Given the description of an element on the screen output the (x, y) to click on. 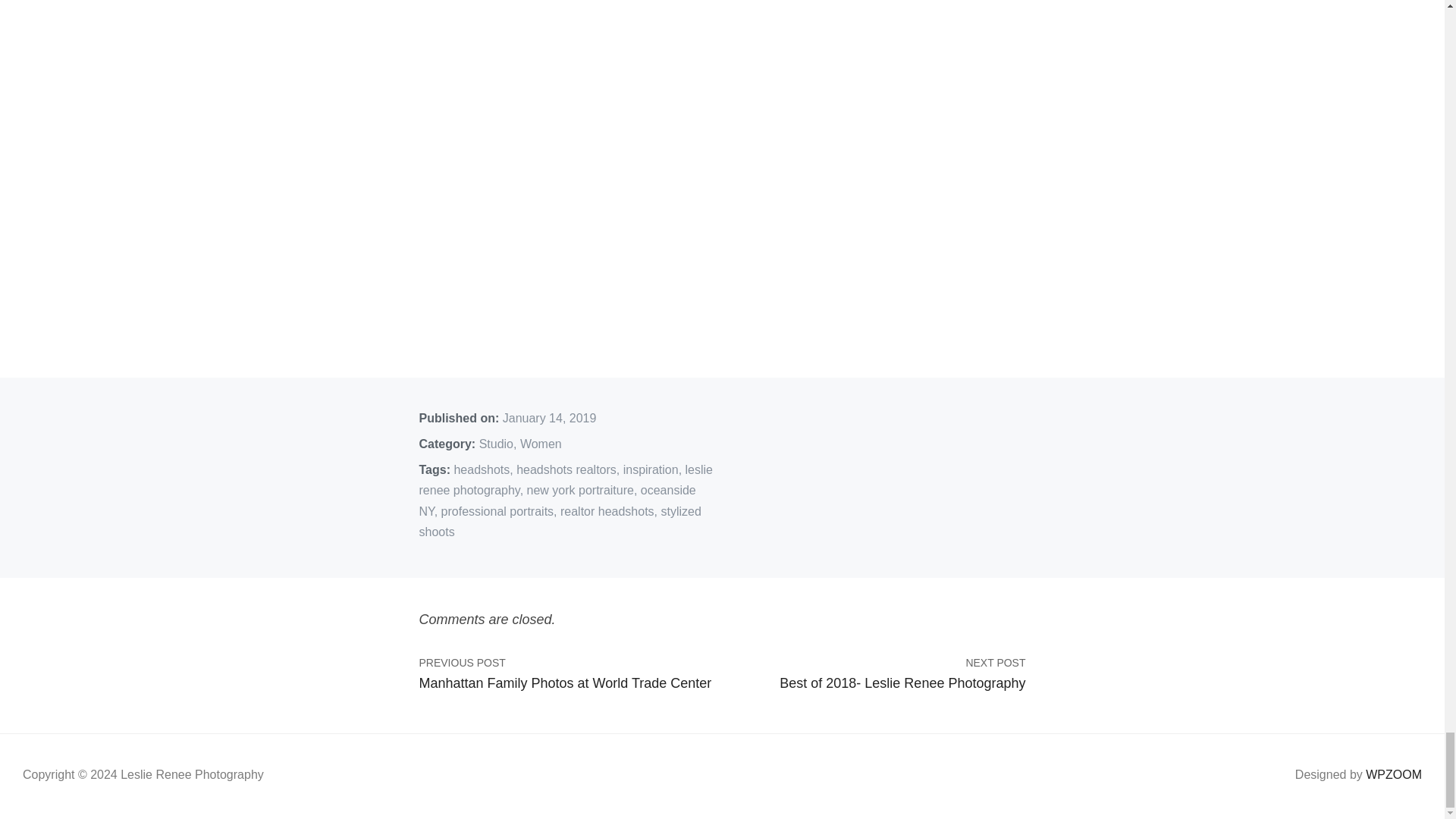
Studio (496, 443)
Best of 2018- Leslie Renee Photography (873, 683)
Best of 2018- Leslie Renee Photography (873, 683)
realtor headshots (606, 511)
inspiration (650, 469)
Manhattan Family Photos at World Trade Center (570, 683)
stylized shoots (559, 521)
new york portraiture (580, 490)
leslie renee photography (566, 479)
headshots (480, 469)
Women (540, 443)
Manhattan Family Photos at World Trade Center (570, 683)
oceanside NY (557, 500)
professional portraits (497, 511)
headshots realtors (565, 469)
